Given the description of an element on the screen output the (x, y) to click on. 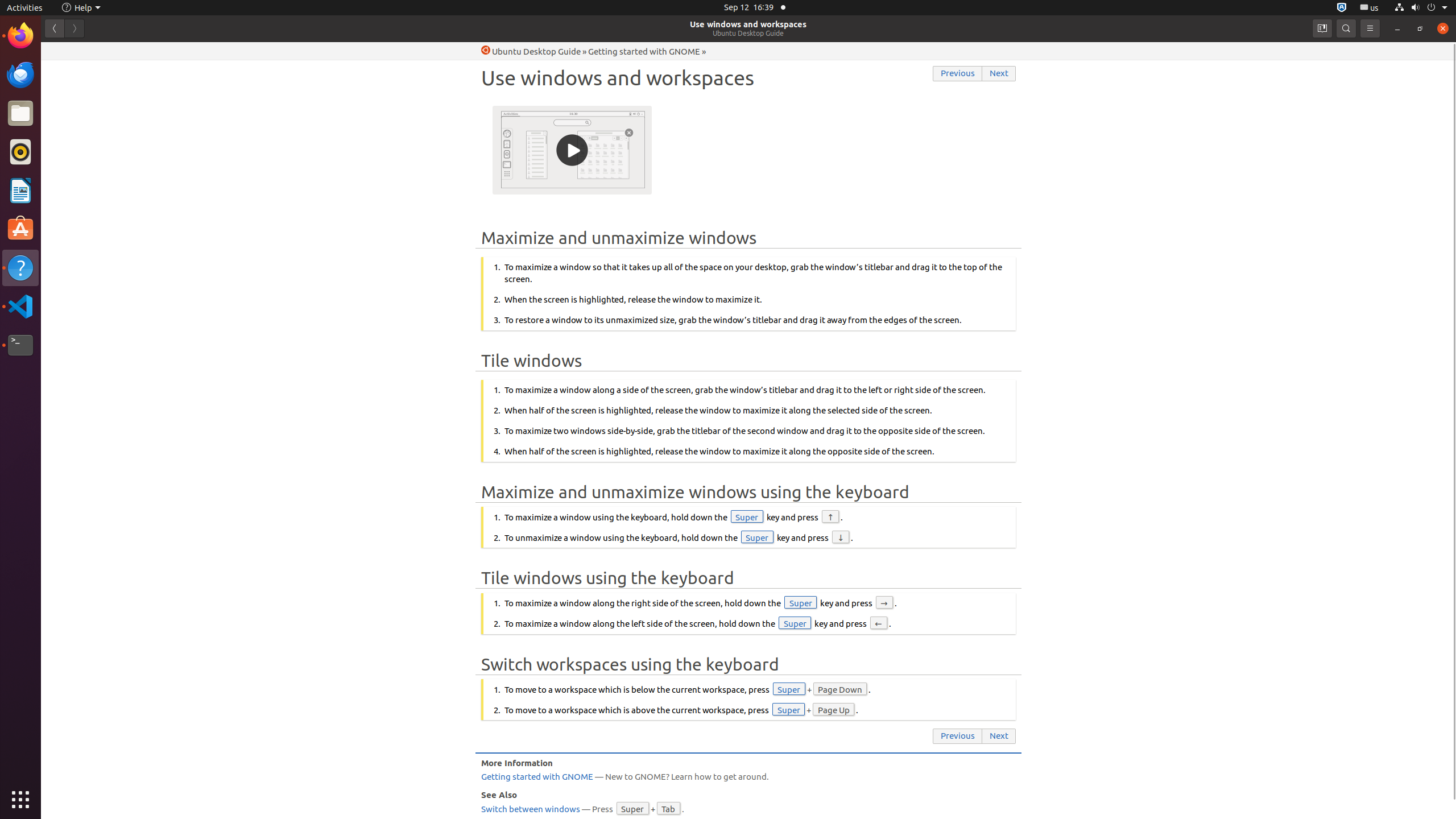
Trash Element type: label (75, 108)
Activities Element type: label (24, 7)
